Given the description of an element on the screen output the (x, y) to click on. 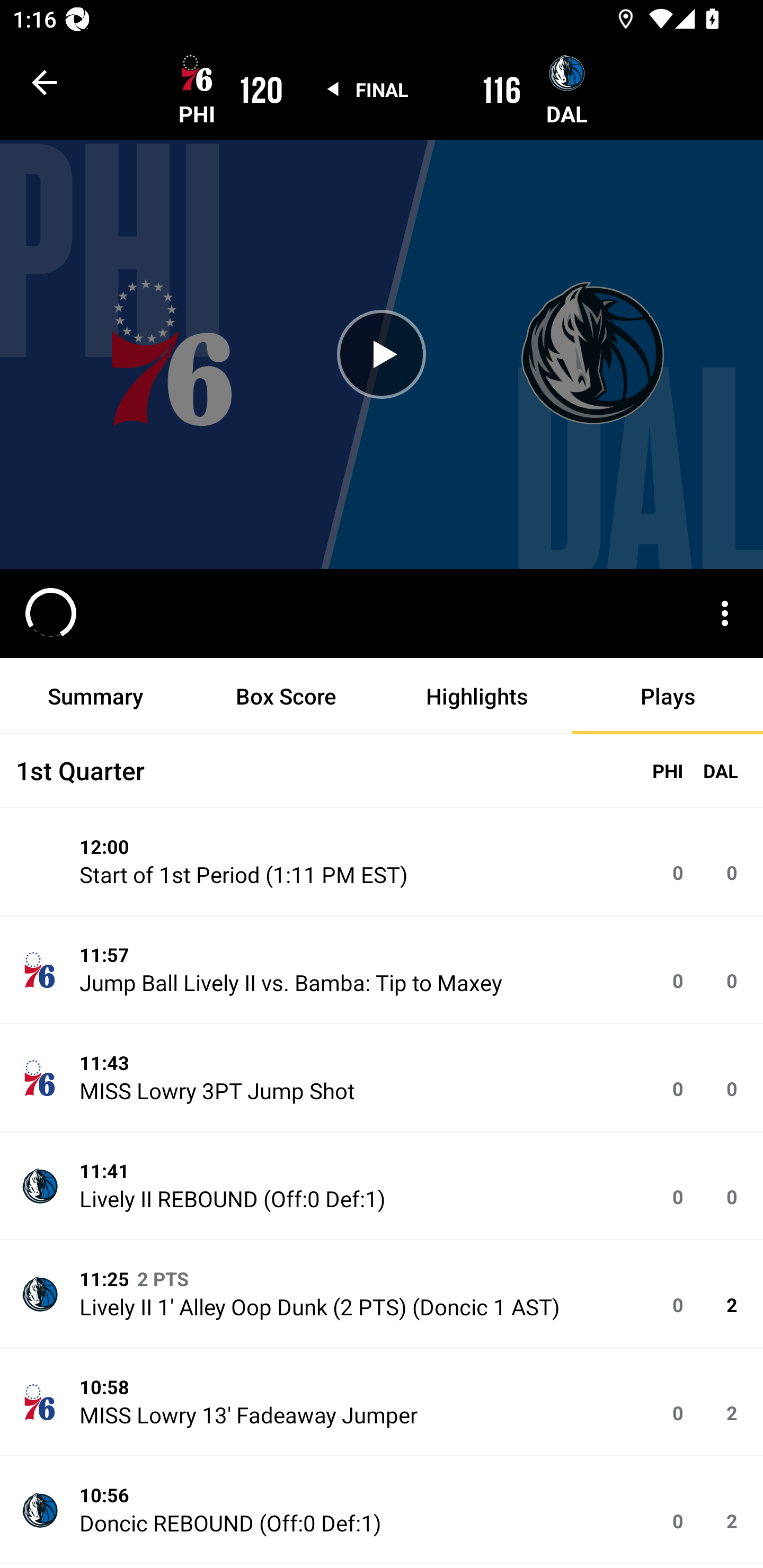
Navigate up (44, 82)
More options (724, 613)
Summary (95, 695)
Box Score (285, 695)
Highlights (476, 695)
